Given the description of an element on the screen output the (x, y) to click on. 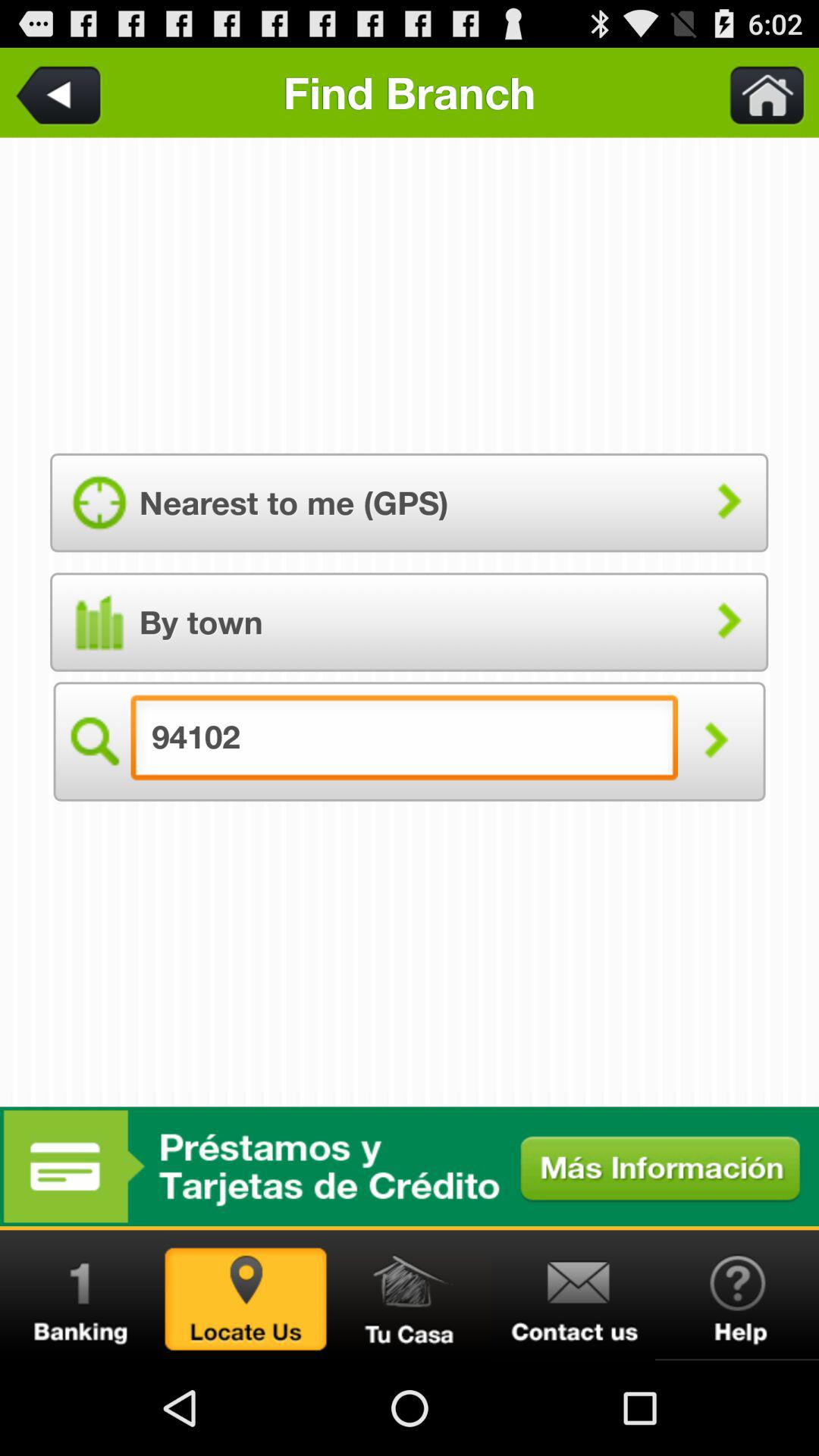
search by text (715, 741)
